Given the description of an element on the screen output the (x, y) to click on. 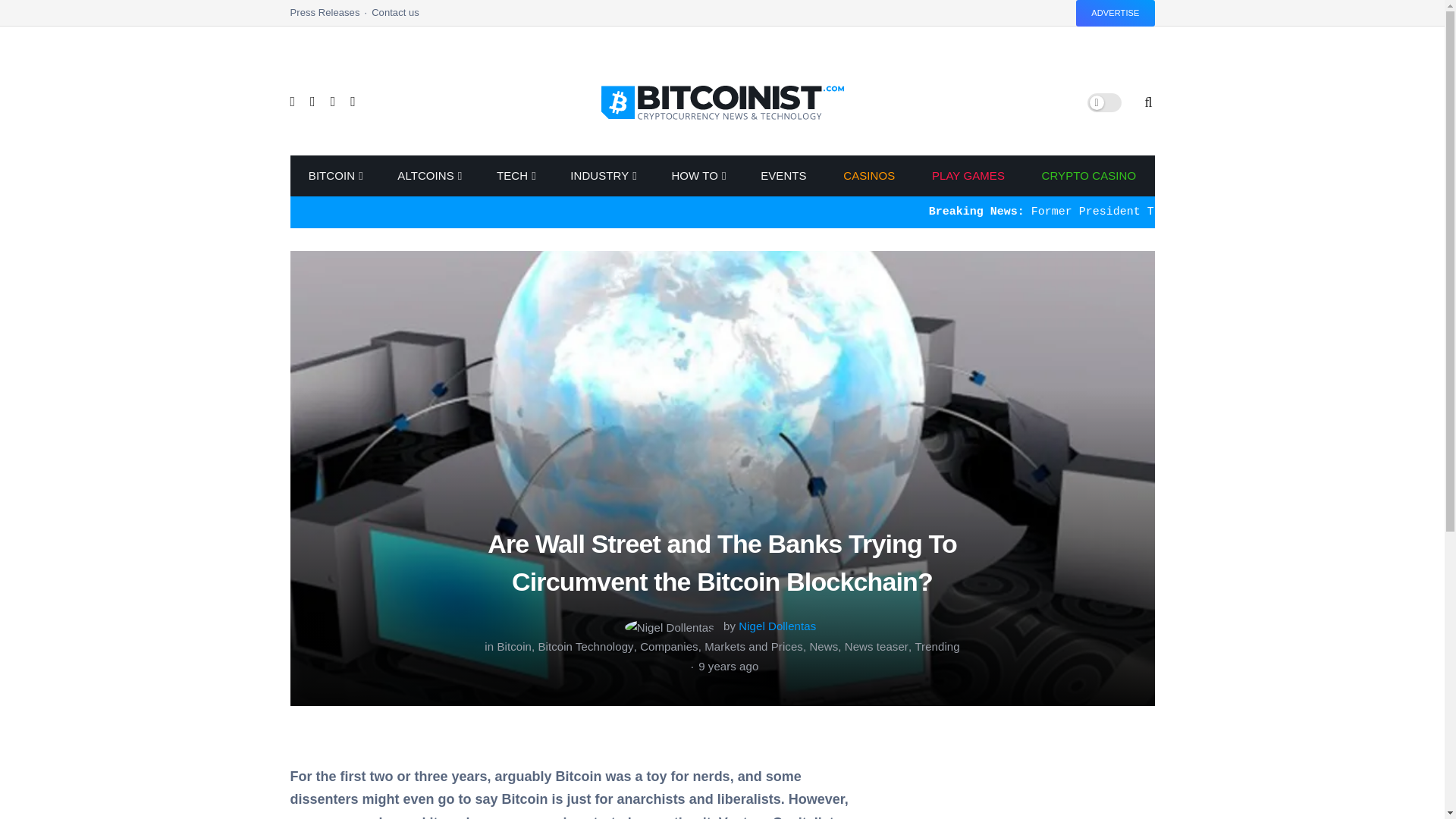
INDUSTRY (601, 175)
ADVERTISE (1114, 13)
Contact us (395, 17)
TECH (515, 175)
ALTCOINS (428, 175)
HOW TO (697, 175)
BITCOIN (333, 175)
Press Releases (330, 17)
